Given the description of an element on the screen output the (x, y) to click on. 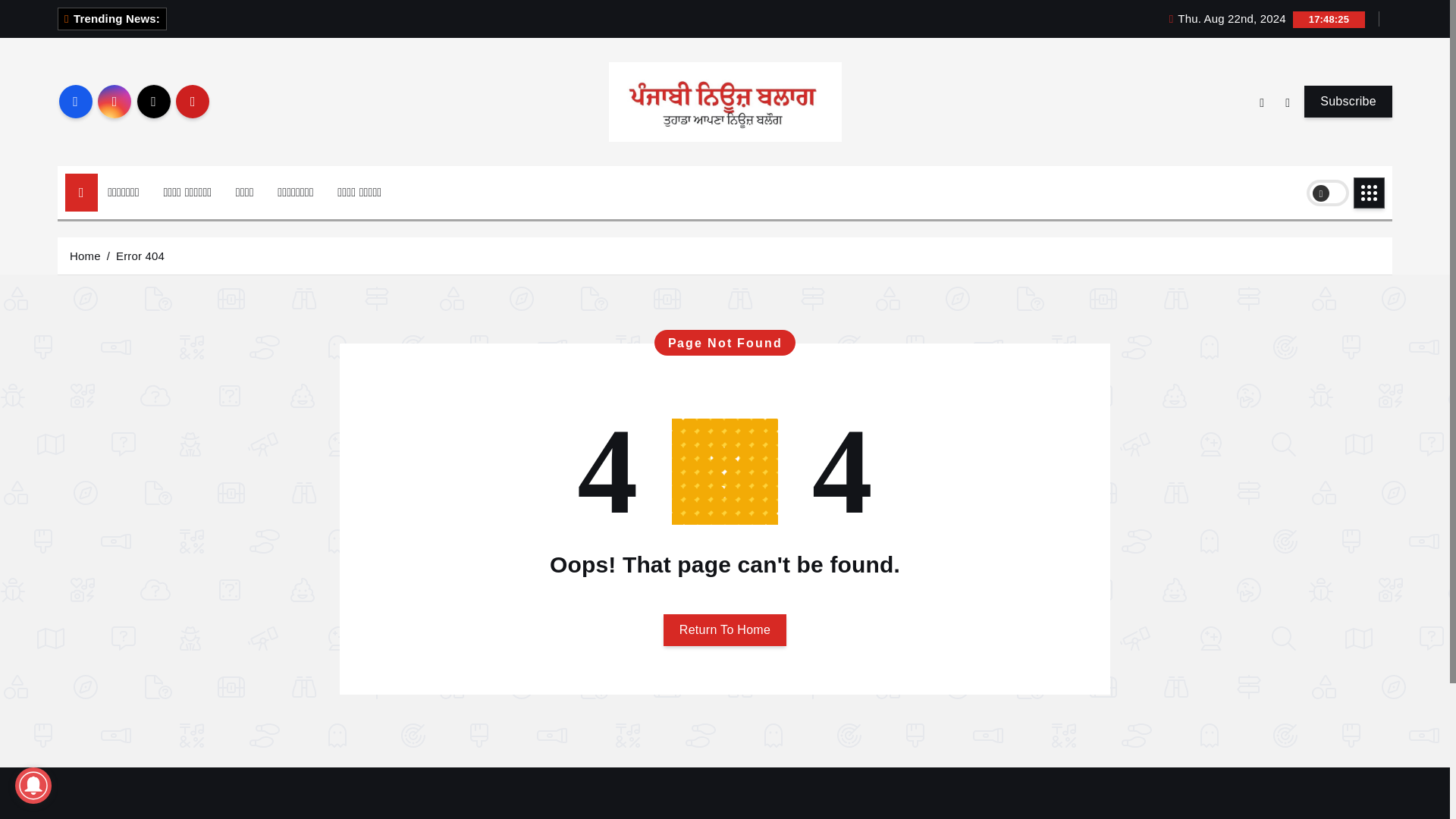
Return To Home (724, 630)
Subscribe (1347, 101)
Error 404 (140, 254)
Home (84, 254)
